Given the description of an element on the screen output the (x, y) to click on. 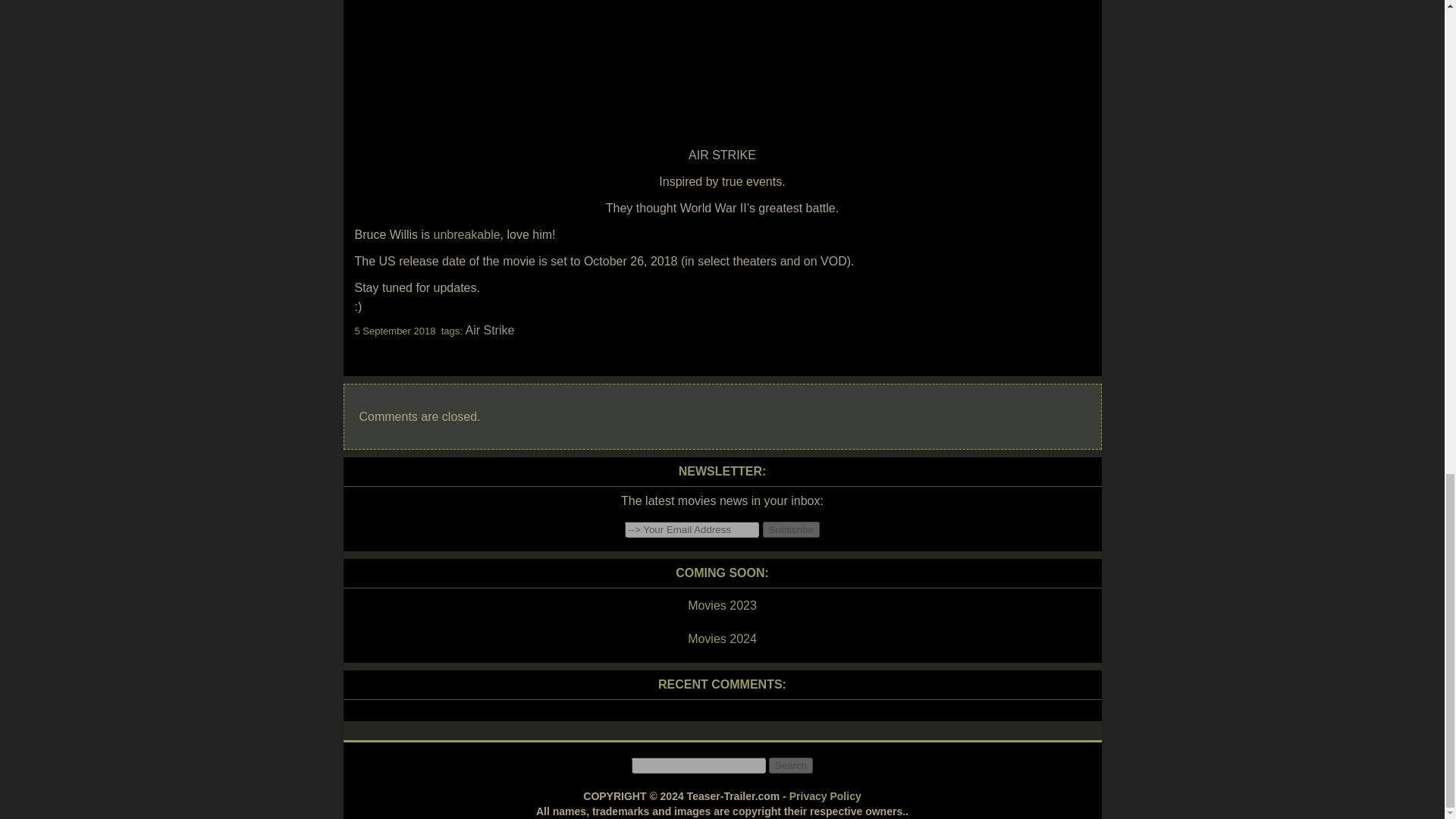
Air Strike (488, 329)
Movies 2024 (721, 639)
Movies 2023 (721, 605)
Search (790, 765)
Search (790, 765)
Subscribe (790, 529)
Privacy Policy (825, 796)
Subscribe (790, 529)
unbreakable (466, 234)
